Given the description of an element on the screen output the (x, y) to click on. 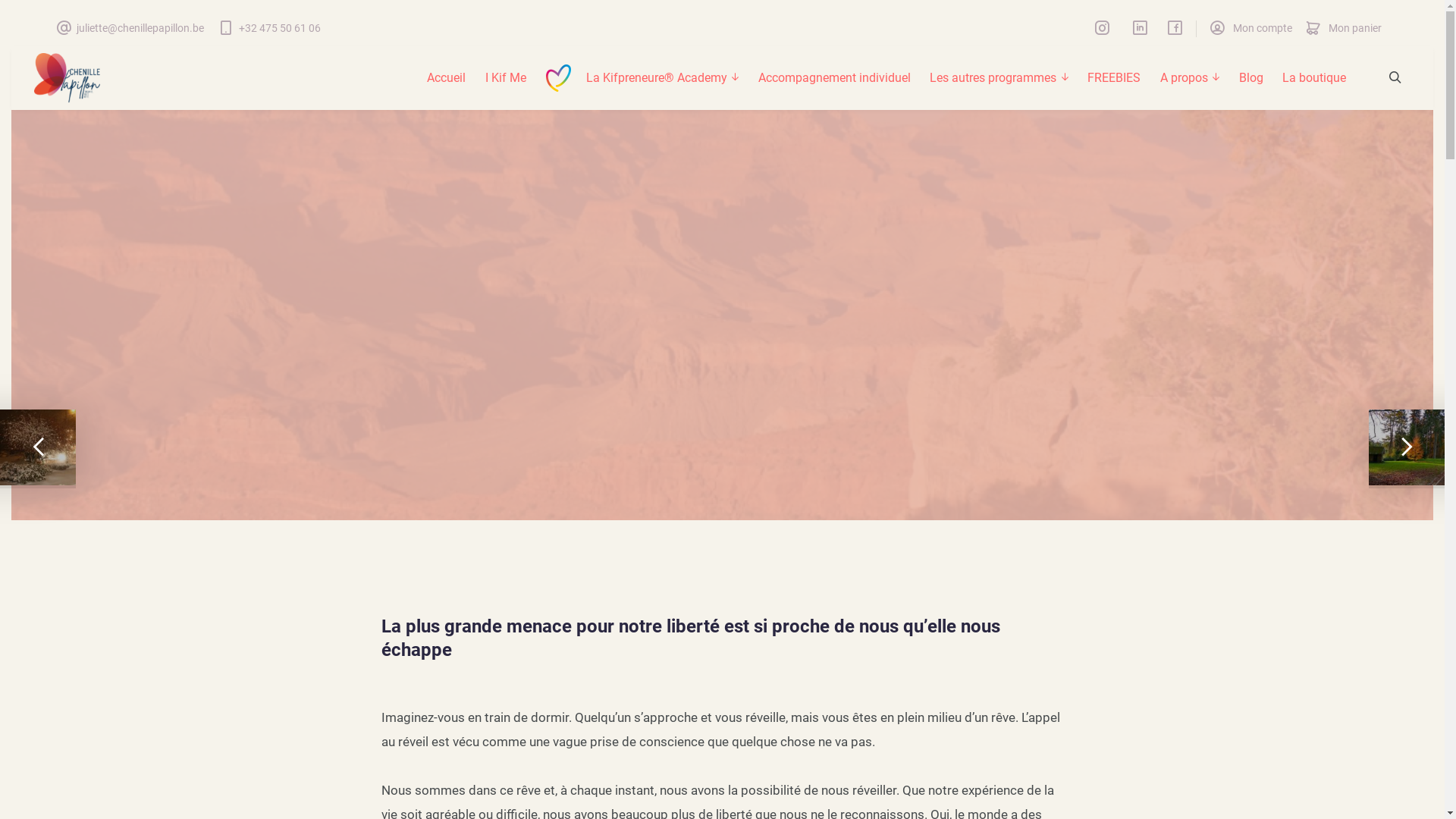
Mon panier Element type: text (1343, 27)
Accueil Element type: text (446, 77)
Blog Element type: text (1251, 77)
Les autres programmes Element type: text (998, 77)
juliette@chenillepapillon.be Element type: text (130, 27)
I Kif Me Element type: text (505, 77)
Accompagnement individuel Element type: text (834, 77)
+32 475 50 61 06 Element type: text (269, 27)
A propos Element type: text (1189, 77)
Skip to main content Element type: text (10, 10)
La boutique Element type: text (1313, 77)
Mon compte Element type: text (1250, 27)
FREEBIES Element type: text (1113, 77)
